Given the description of an element on the screen output the (x, y) to click on. 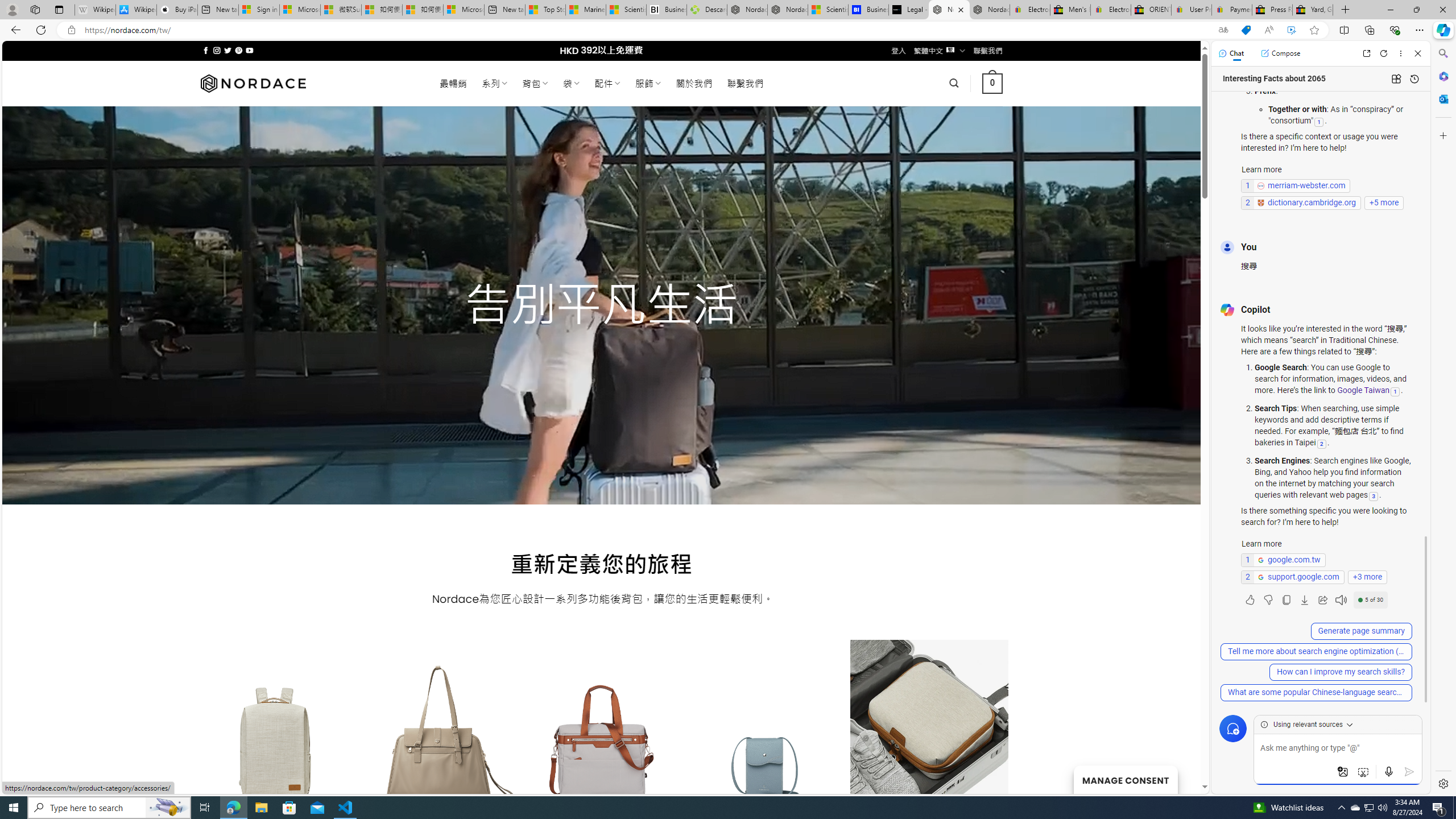
Yard, Garden & Outdoor Living (1312, 9)
Follow on Instagram (216, 50)
Microsoft account | Account Checkup (463, 9)
Buy iPad - Apple (176, 9)
Follow on YouTube (249, 50)
Nordace - Summer Adventures 2024 (787, 9)
